Given the description of an element on the screen output the (x, y) to click on. 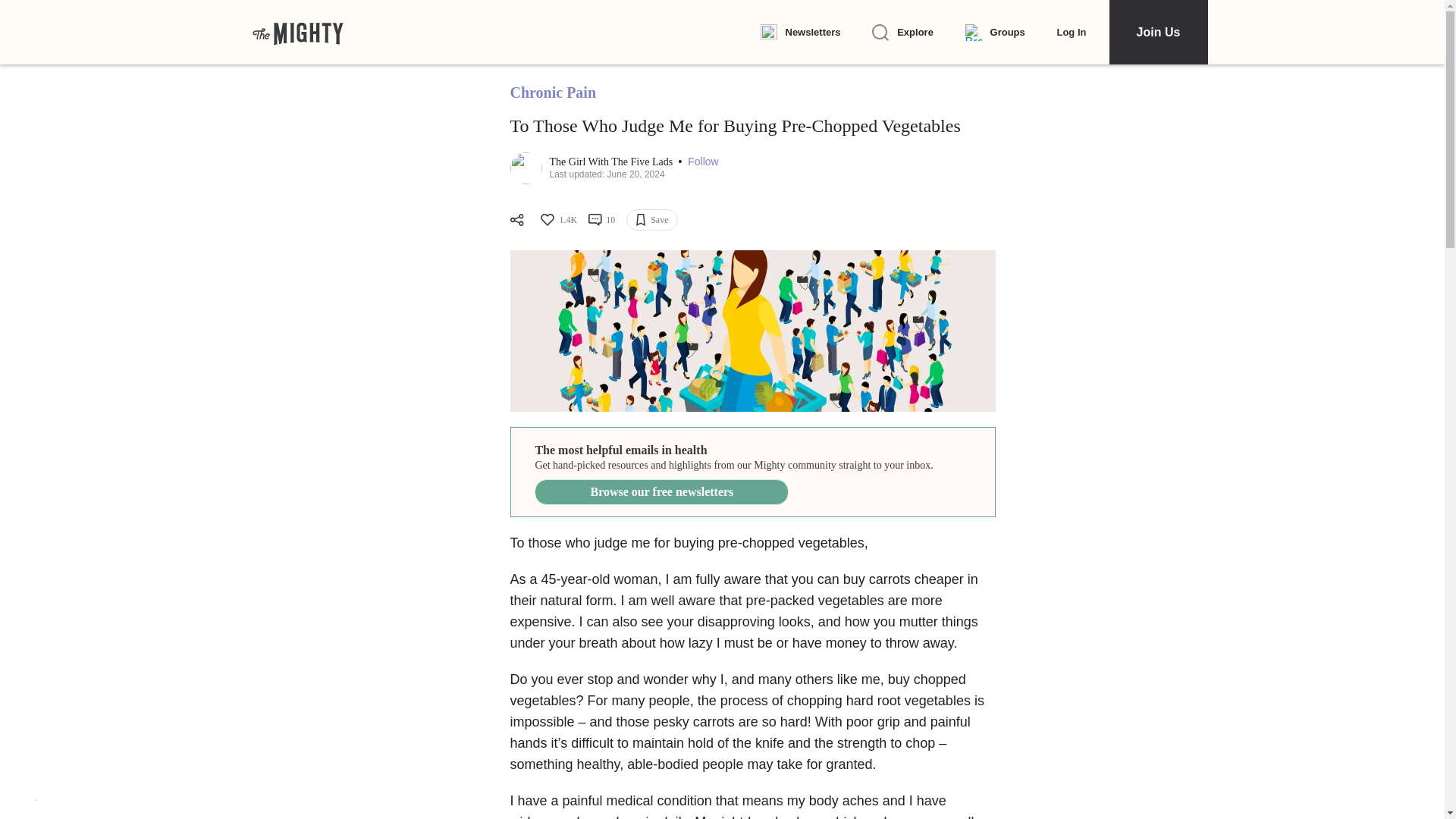
Join Us (1157, 32)
Follow (702, 161)
10 (601, 219)
Groups (995, 32)
The Girl With The Five Lads (611, 161)
Save (651, 219)
1.4K (557, 219)
The Mighty (296, 32)
Newsletters (800, 32)
Explore (902, 32)
Log In (1071, 31)
Chronic Pain (552, 92)
Browse our free newsletters (661, 492)
